Given the description of an element on the screen output the (x, y) to click on. 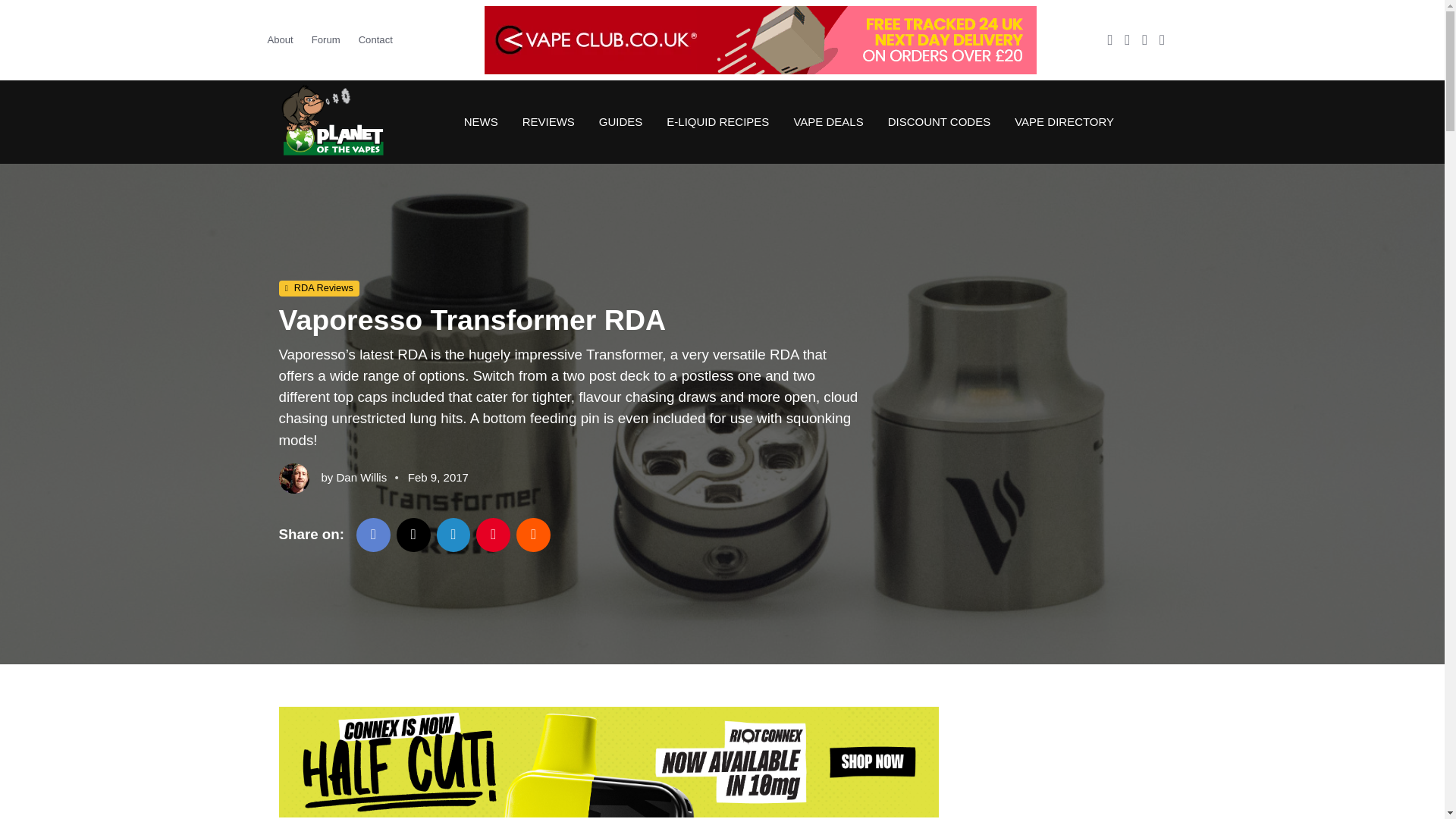
Forum (325, 39)
E-LIQUID RECIPES (716, 121)
DISCOUNT CODES (939, 121)
VAPE DEALS (827, 121)
Dan Willis (361, 477)
About (283, 39)
REVIEWS (548, 121)
NEWS (481, 121)
RDA Reviews (319, 288)
Contact (375, 39)
GUIDES (620, 121)
VAPE DIRECTORY (1058, 121)
